Given the description of an element on the screen output the (x, y) to click on. 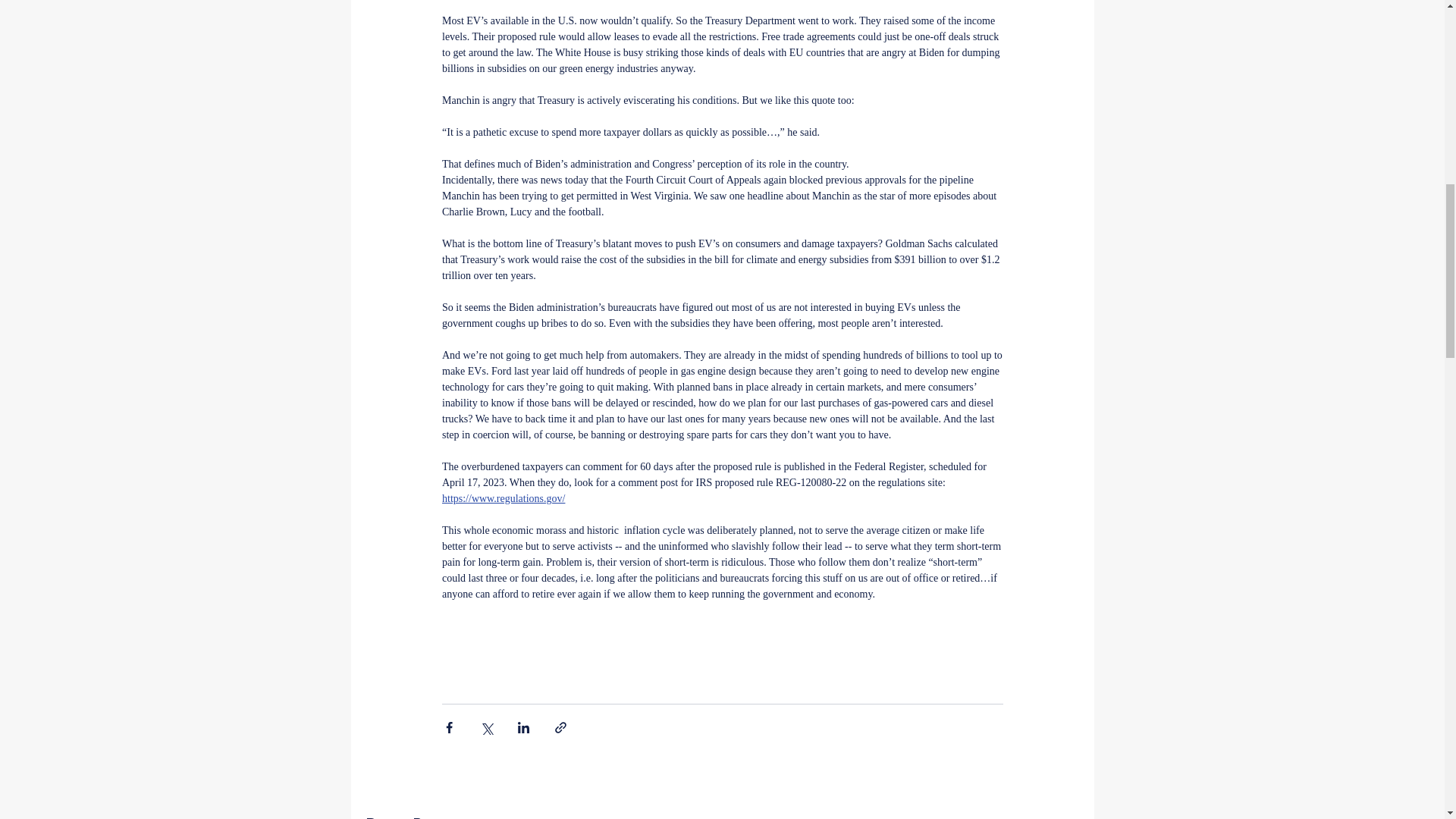
See All (1061, 816)
